Given the description of an element on the screen output the (x, y) to click on. 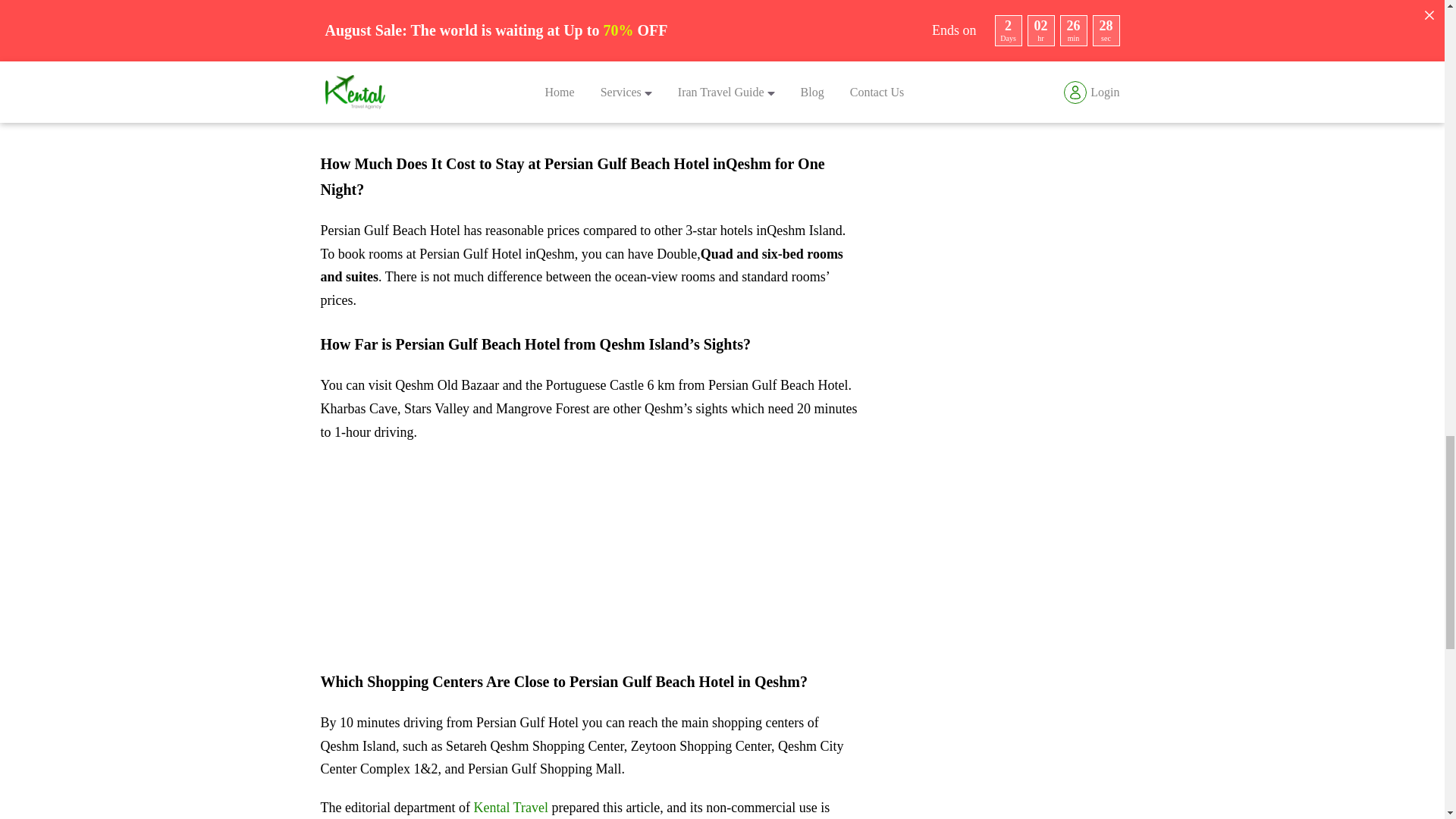
Kental Travel (510, 807)
